Given the description of an element on the screen output the (x, y) to click on. 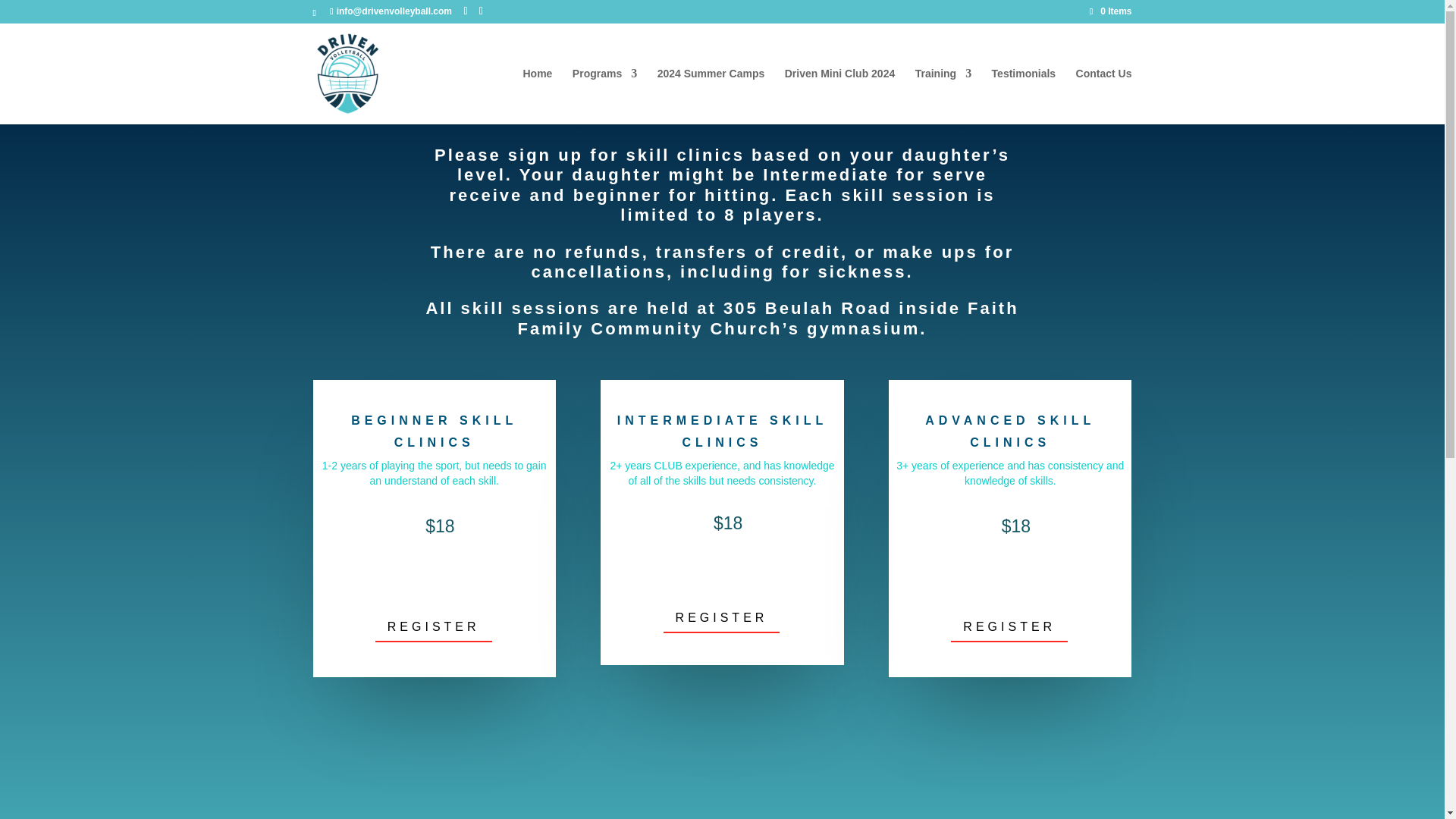
Training (943, 95)
2024 Summer Camps (711, 95)
Testimonials (1024, 95)
REGISTER (1008, 626)
Programs (604, 95)
REGISTER (721, 617)
REGISTER (433, 626)
Contact Us (1103, 95)
Driven Mini Club 2024 (839, 95)
0 Items (1110, 10)
